Given the description of an element on the screen output the (x, y) to click on. 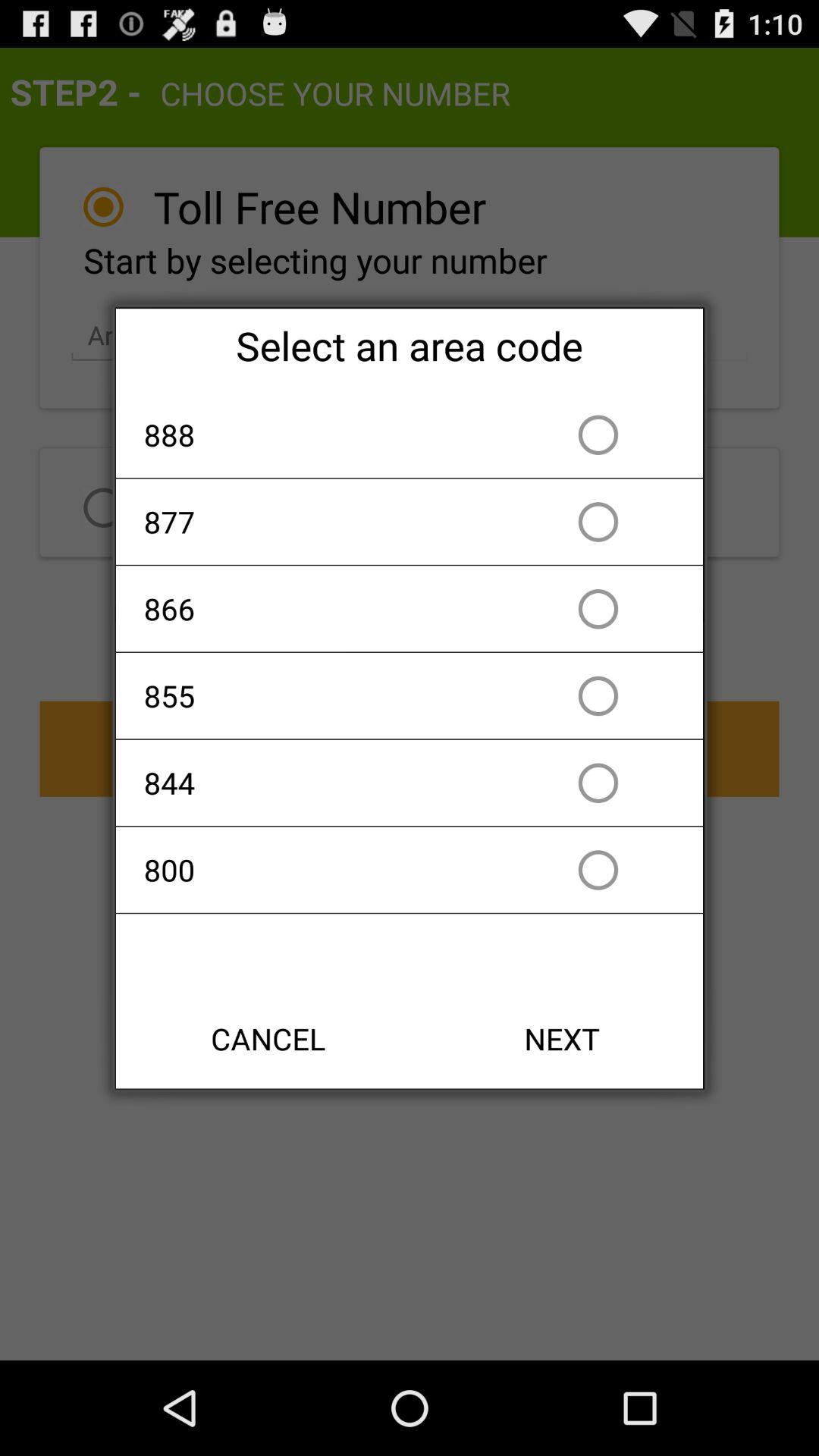
scroll until 855 icon (322, 695)
